Given the description of an element on the screen output the (x, y) to click on. 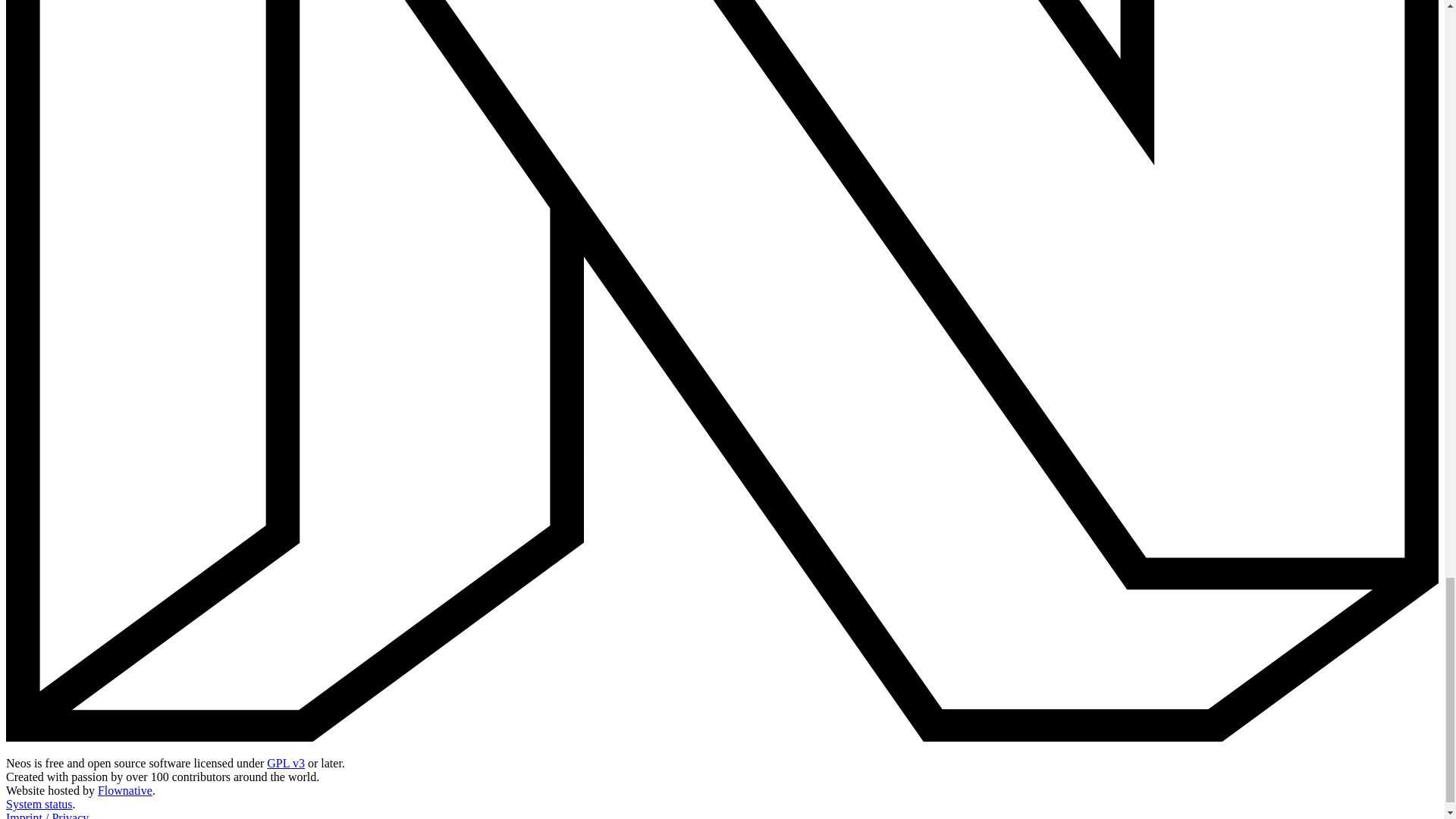
Flownative (124, 789)
GPL v3 (285, 762)
System status (38, 803)
